Given the description of an element on the screen output the (x, y) to click on. 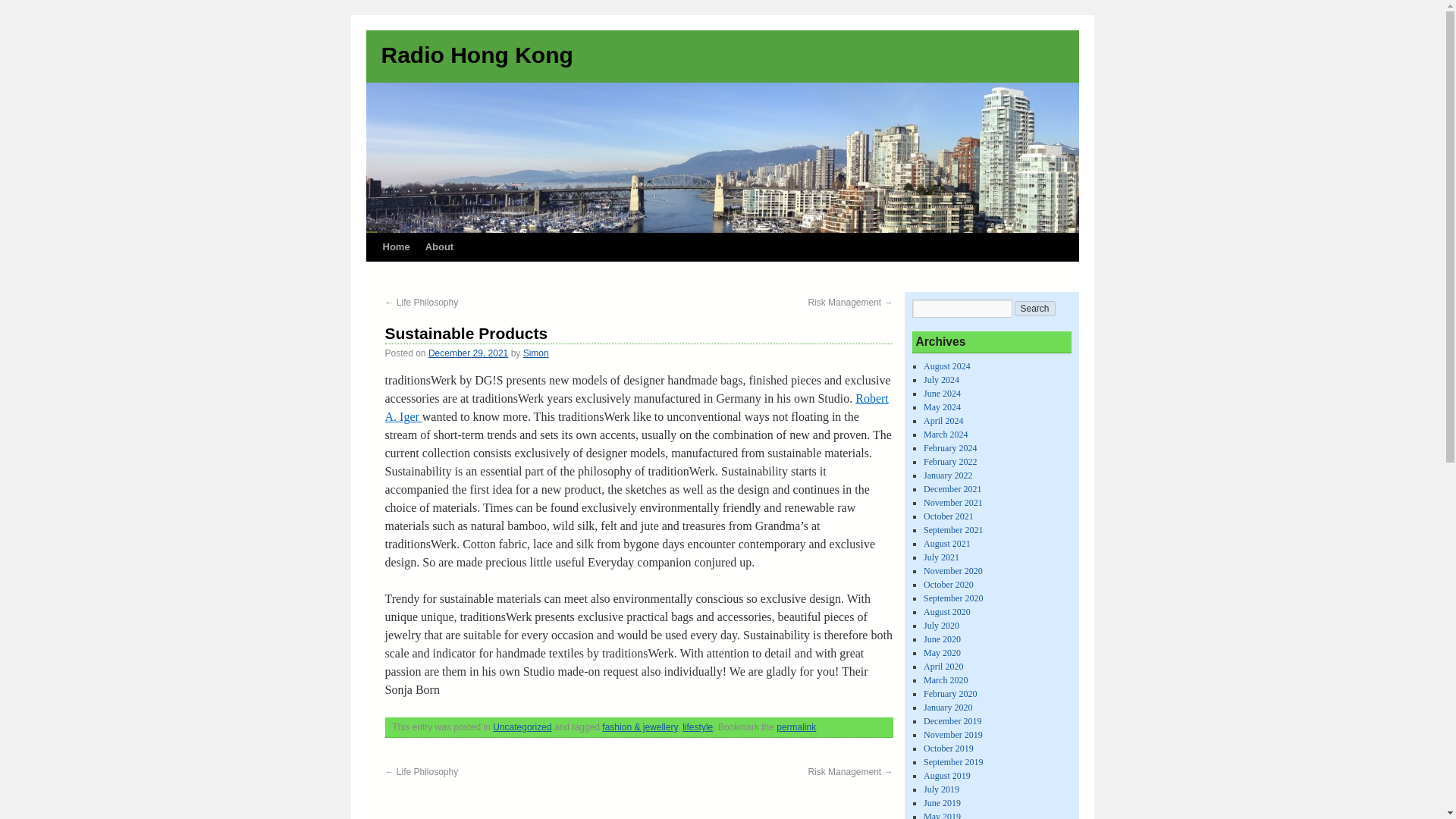
About (439, 246)
Search (1034, 308)
June 2024 (941, 393)
December 2021 (952, 489)
August 2021 (947, 543)
November 2021 (952, 502)
August 2024 (947, 366)
Radio Hong Kong (476, 54)
November 2020 (952, 570)
July 2021 (941, 557)
